Given the description of an element on the screen output the (x, y) to click on. 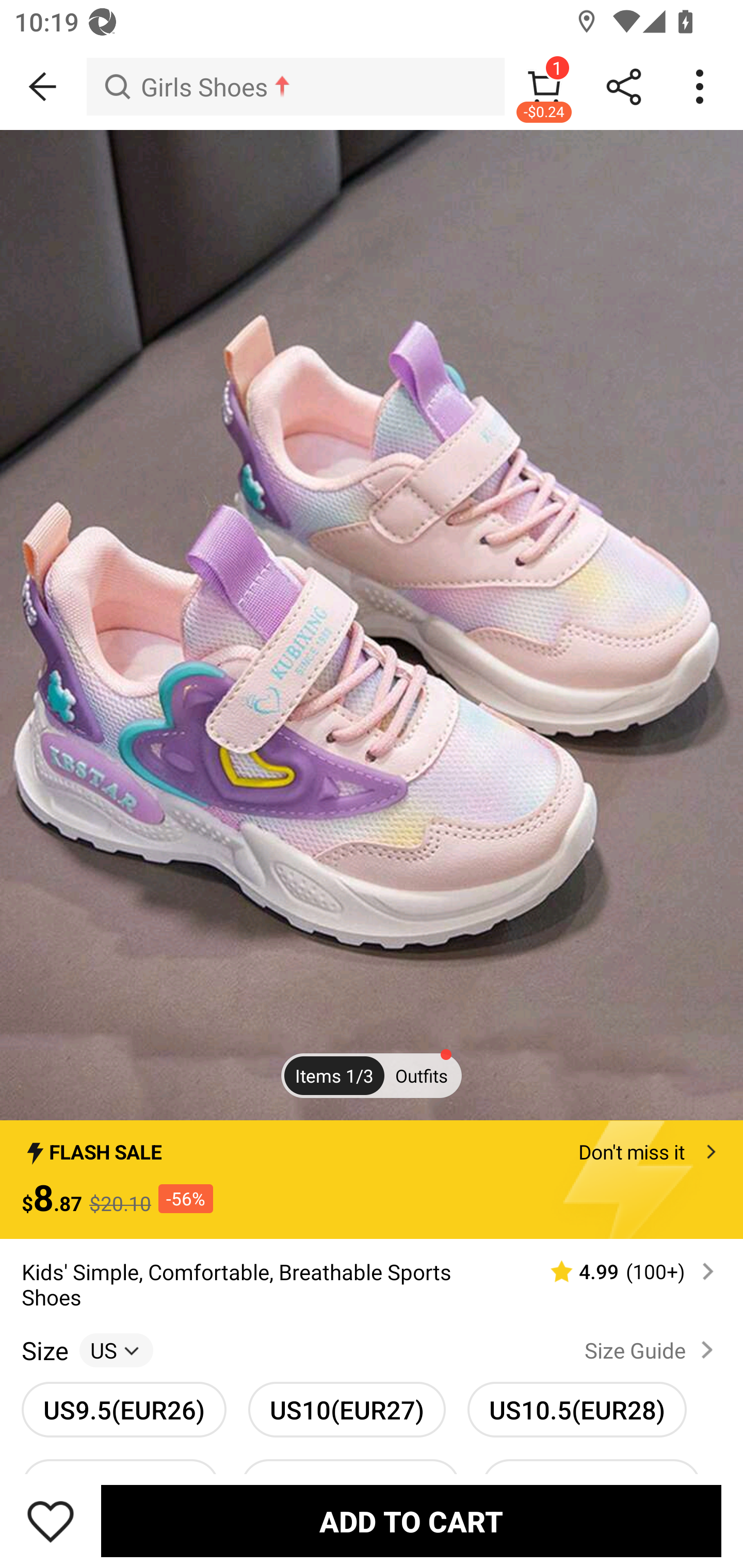
BACK (43, 86)
1 -$0.24 (543, 87)
Girls Shoes (295, 87)
Items 1/3 (334, 1075)
Outfits (421, 1075)
FLASH SALE Don't miss it $8.87 $20.10 -56% (371, 1178)
FLASH SALE Don't miss it (371, 1145)
4.99 (100‎+) (623, 1271)
Size (44, 1349)
US (116, 1349)
Size Guide (652, 1349)
US9.5(EUR26) US9.5(EUR26)unselected option (123, 1409)
US10(EUR27) US10(EUR27)unselected option (346, 1409)
US10.5(EUR28) US10.5(EUR28)unselected option (576, 1409)
ADD TO CART (411, 1520)
Save (50, 1520)
